Given the description of an element on the screen output the (x, y) to click on. 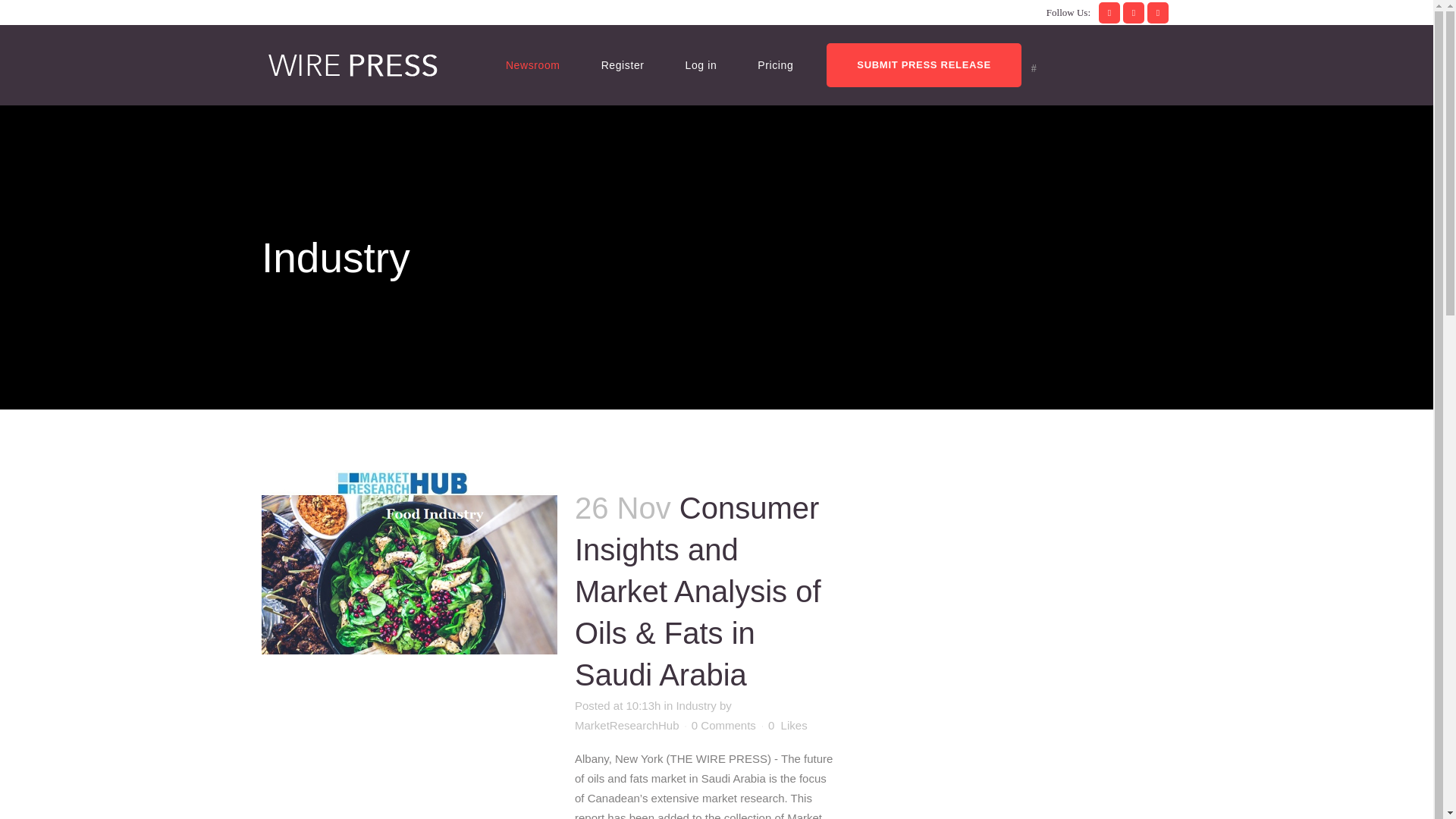
SUBMIT PRESS RELEASE (924, 64)
Log in (701, 65)
Newsroom (532, 65)
Register (622, 65)
Pricing (774, 65)
Advertisement (996, 762)
Like this (788, 725)
